Given the description of an element on the screen output the (x, y) to click on. 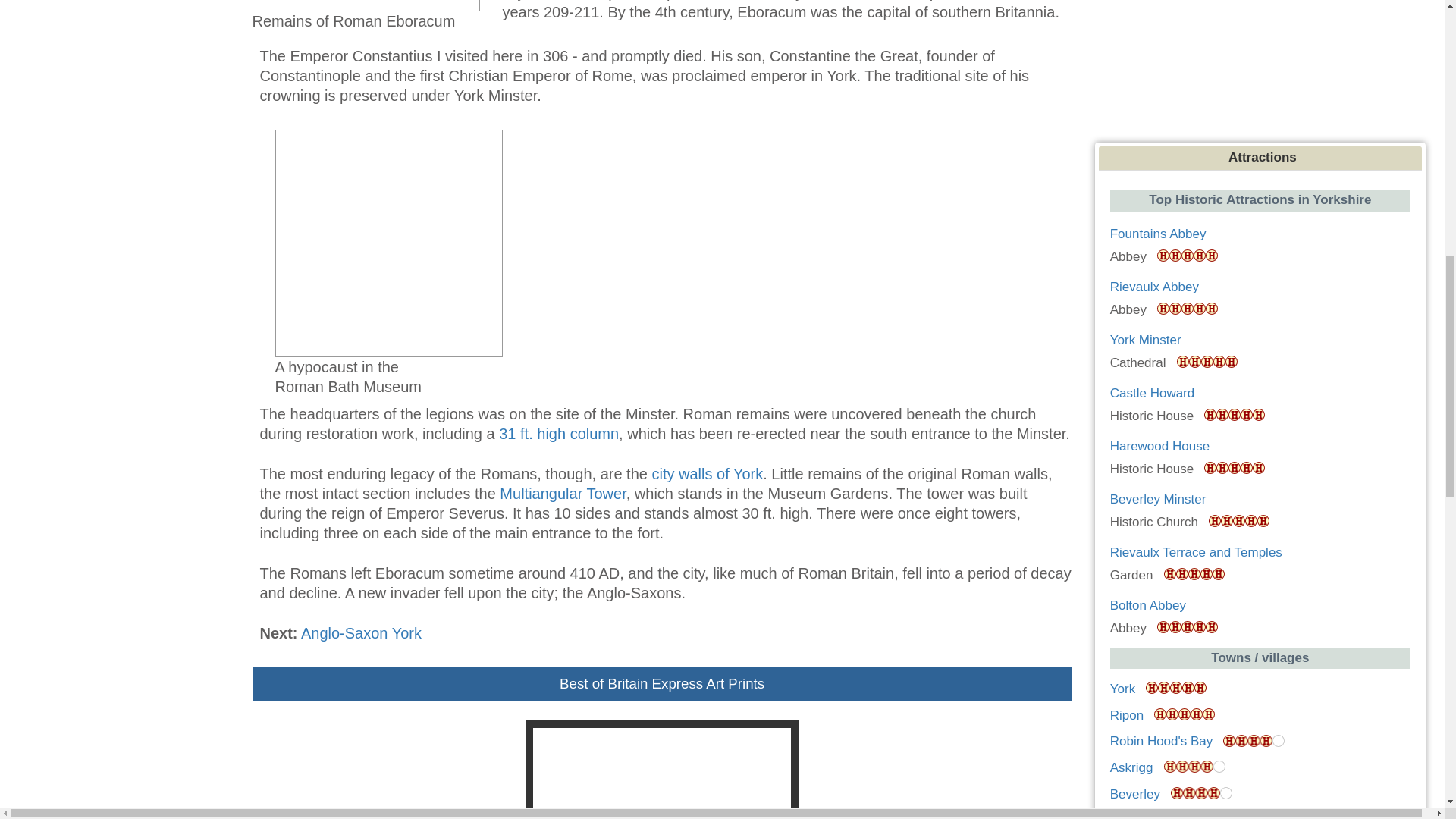
Roman Column, York (558, 433)
Advertisement (1263, 67)
Multangular Tower (562, 493)
